Given the description of an element on the screen output the (x, y) to click on. 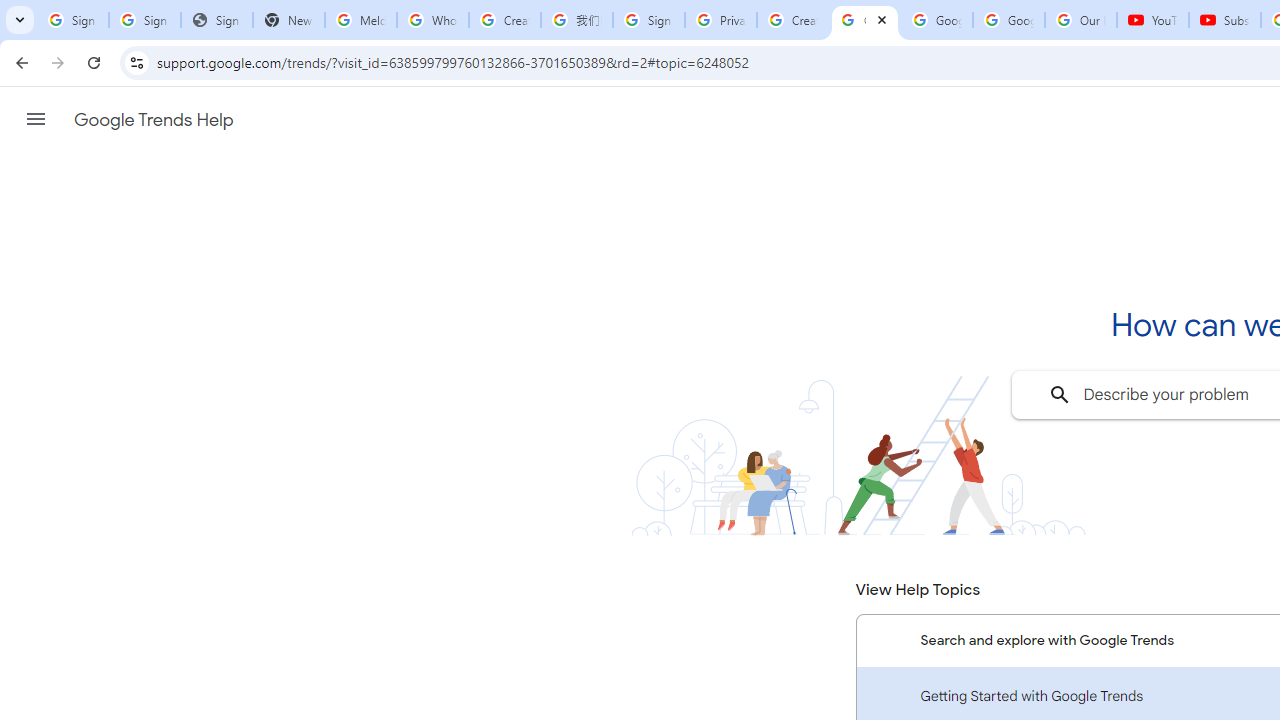
Who is my administrator? - Google Account Help (432, 20)
Create your Google Account (504, 20)
New Tab (289, 20)
Main menu (35, 119)
Sign in - Google Accounts (72, 20)
To search (1059, 394)
Sign in - Google Accounts (144, 20)
